Given the description of an element on the screen output the (x, y) to click on. 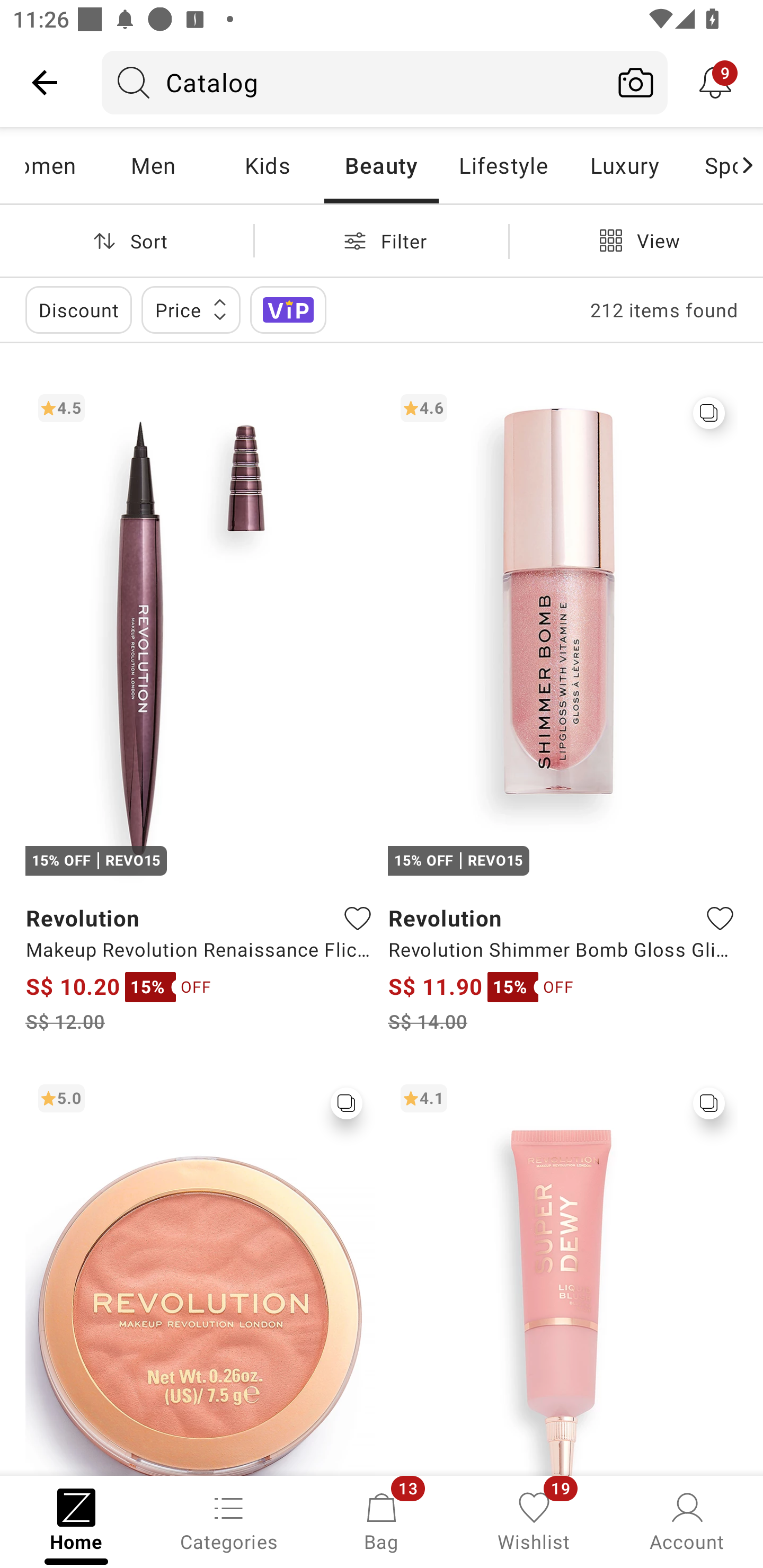
Navigate up (44, 82)
Catalog (352, 82)
Men (152, 165)
Kids (266, 165)
Lifestyle (502, 165)
Luxury (623, 165)
Sort (126, 240)
Filter (381, 240)
View (636, 240)
Discount (78, 309)
Price (190, 309)
5.0 (200, 1272)
4.1 (562, 1272)
Categories (228, 1519)
Bag, 13 new notifications Bag (381, 1519)
Wishlist, 19 new notifications Wishlist (533, 1519)
Account (686, 1519)
